Given the description of an element on the screen output the (x, y) to click on. 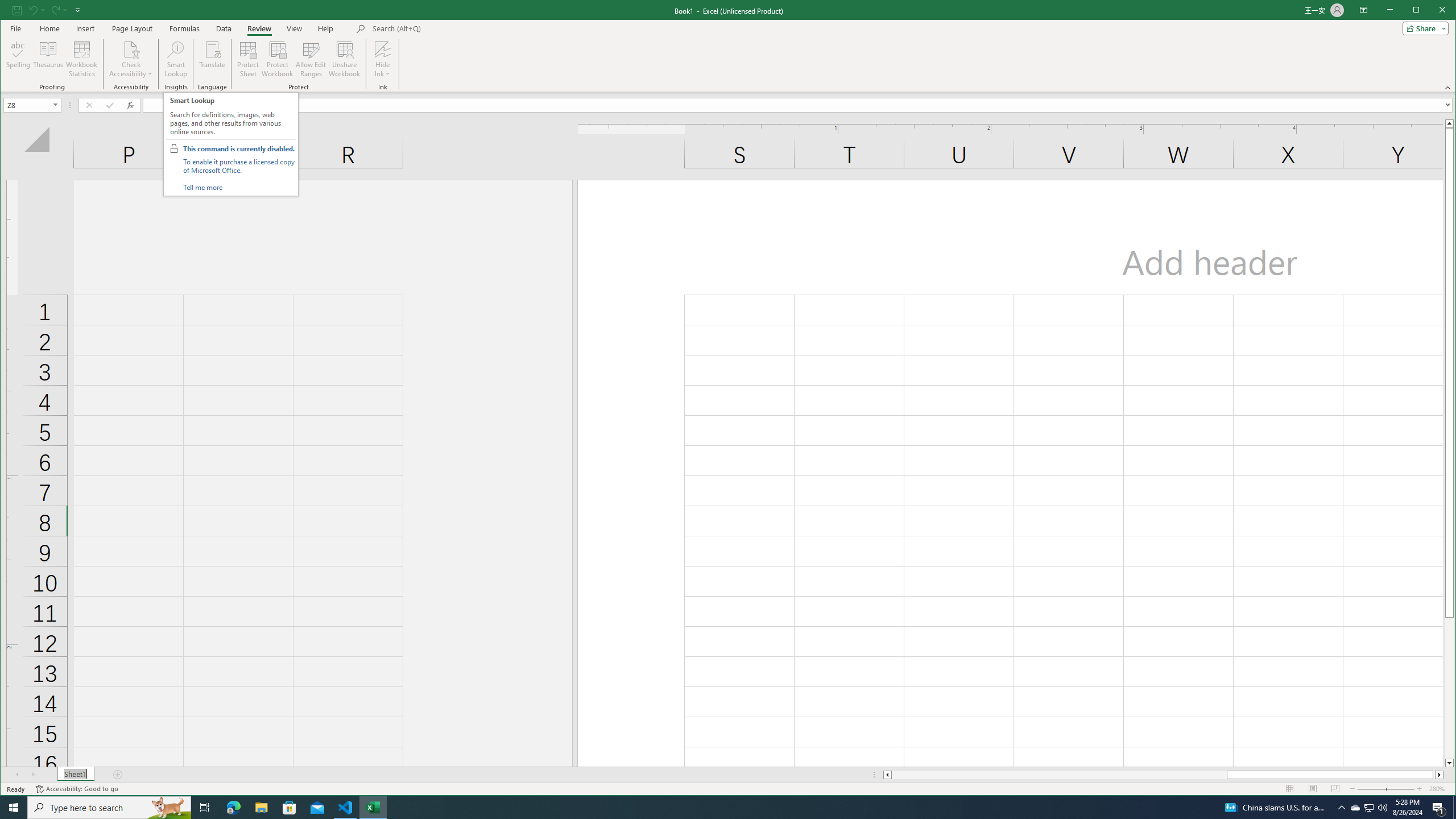
This command is currently disabled. (238, 148)
File Explorer (261, 807)
Microsoft Store (289, 807)
Minimize (1419, 11)
Line up (1449, 122)
Thesaurus... (48, 59)
Zoom Out (1378, 788)
Excel - 1 running window (373, 807)
Add Sheet (118, 774)
Open (55, 105)
Maximize (1432, 11)
Customize Quick Access Toolbar (77, 9)
